Given the description of an element on the screen output the (x, y) to click on. 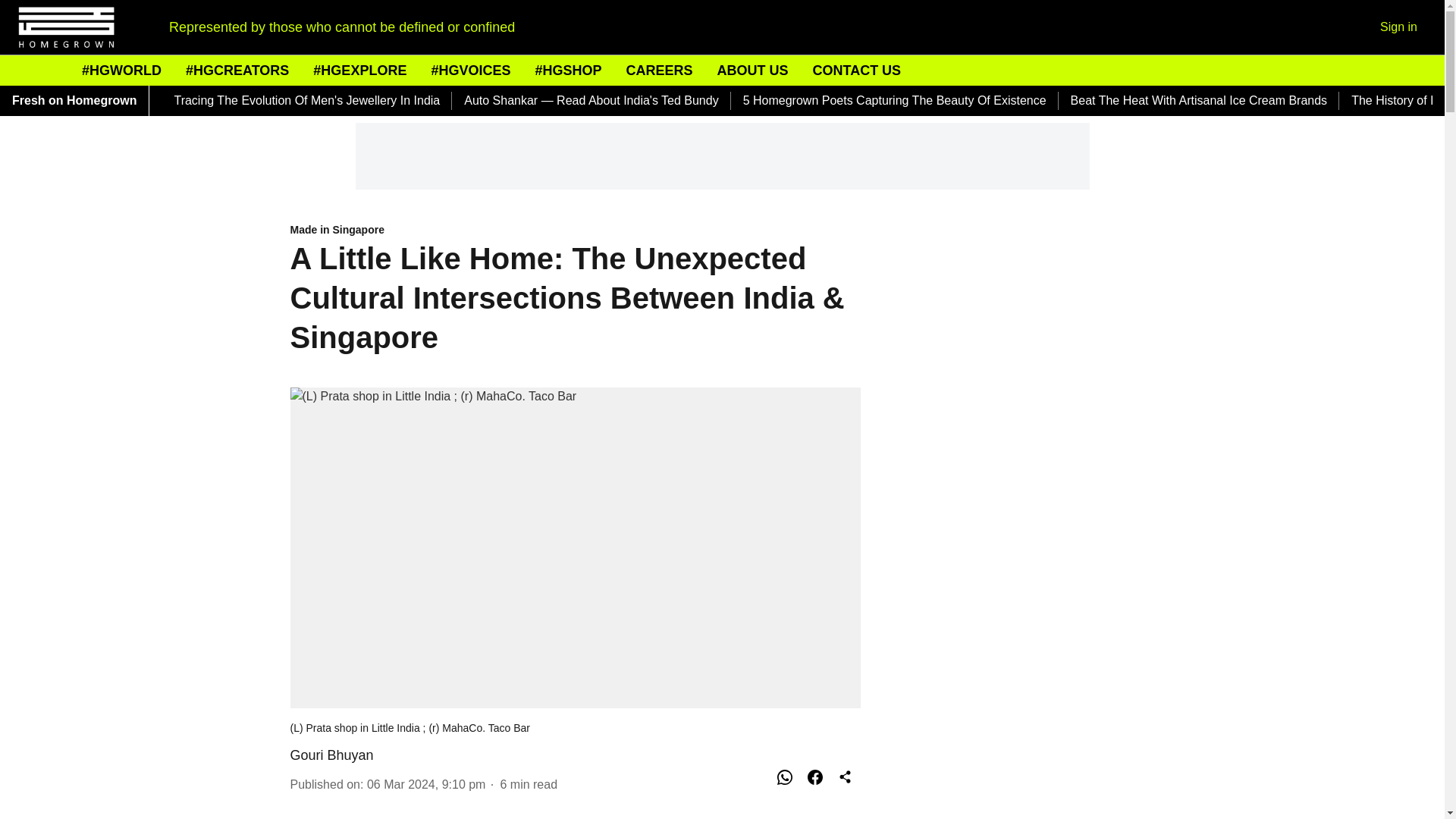
ABOUT US (751, 70)
CAREERS (659, 70)
Tracing The Evolution Of Men's Jewellery In India (306, 100)
2024-03-06 13:10 (426, 784)
CONTACT US (856, 70)
